Given the description of an element on the screen output the (x, y) to click on. 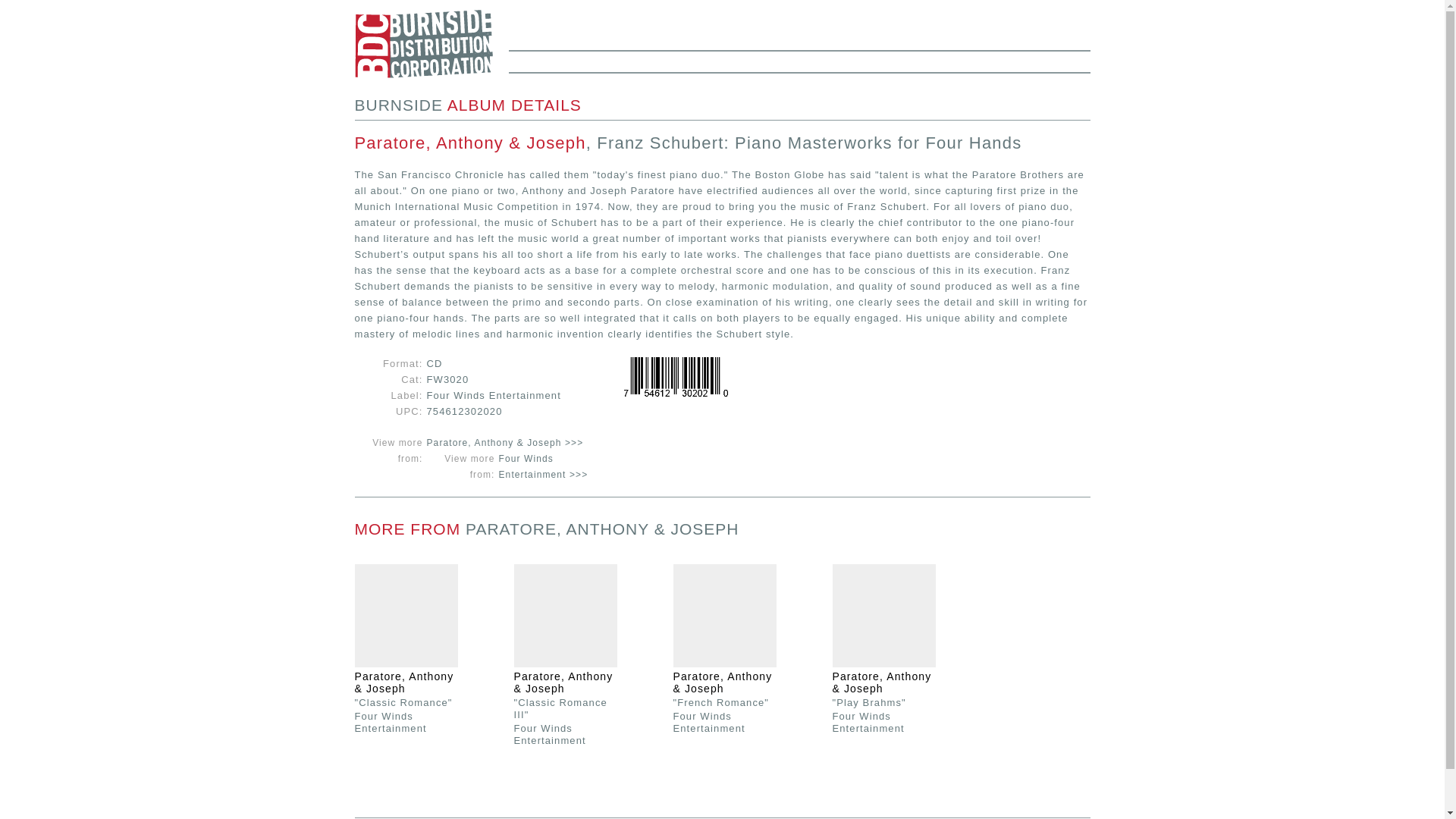
"French Romance" (721, 701)
"Classic Romance III" (560, 707)
"Classic Romance" (403, 701)
Four Winds Entertainment (549, 733)
"Play Brahms" (868, 701)
Four Winds Entertainment (868, 721)
Four Winds Entertainment (390, 721)
Four Winds Entertainment (708, 721)
